Given the description of an element on the screen output the (x, y) to click on. 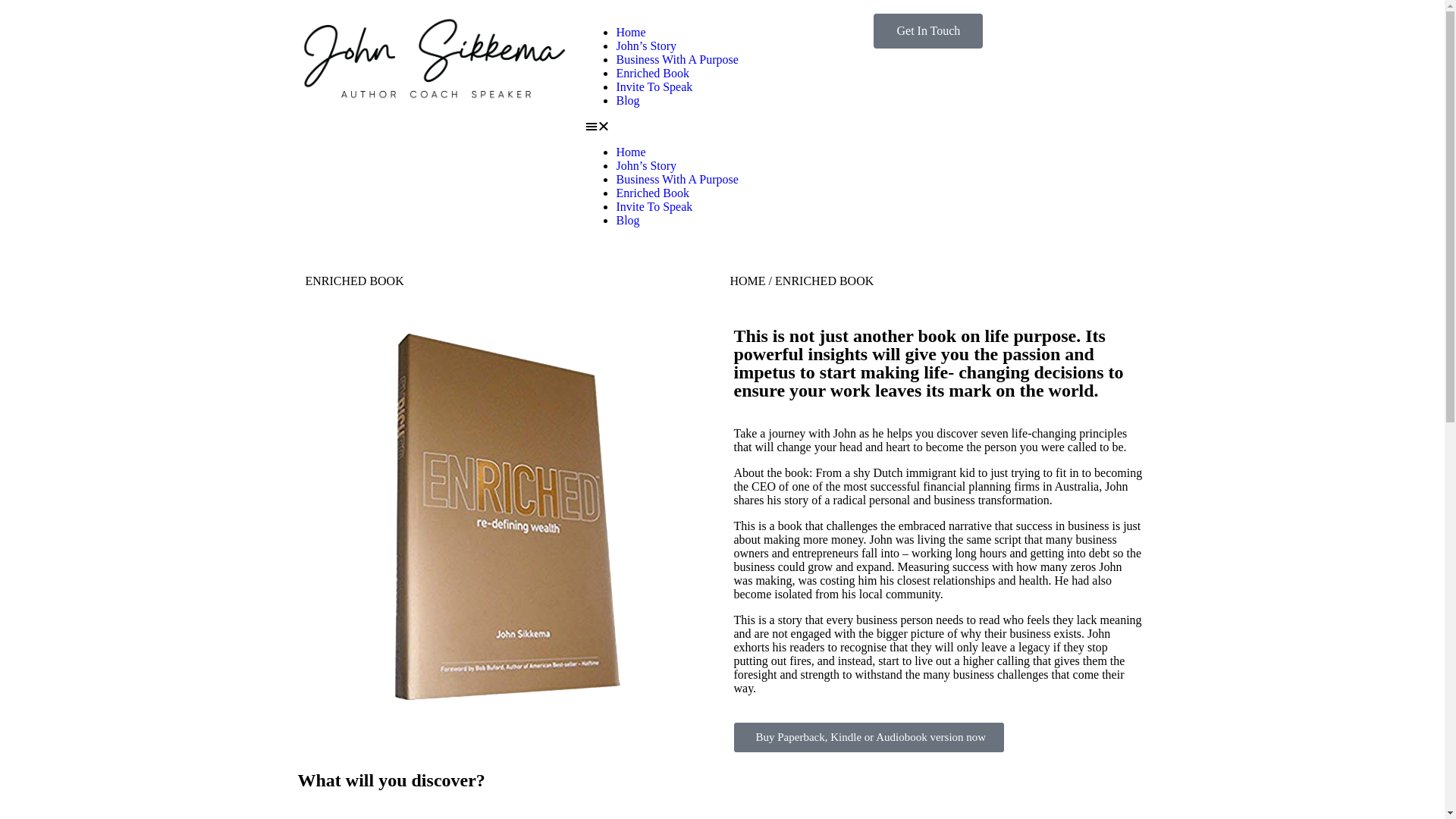
Buy Paperback, Kindle or Audiobook version now Element type: text (869, 737)
Enriched Book Element type: text (651, 72)
Blog Element type: text (627, 100)
Blog Element type: text (627, 219)
Get In Touch Element type: text (927, 30)
Invite To Speak Element type: text (653, 206)
Enriched Book Element type: text (651, 192)
Home Element type: text (630, 151)
Business With A Purpose Element type: text (676, 178)
Invite To Speak Element type: text (653, 86)
Home Element type: text (630, 31)
Business With A Purpose Element type: text (676, 59)
